Given the description of an element on the screen output the (x, y) to click on. 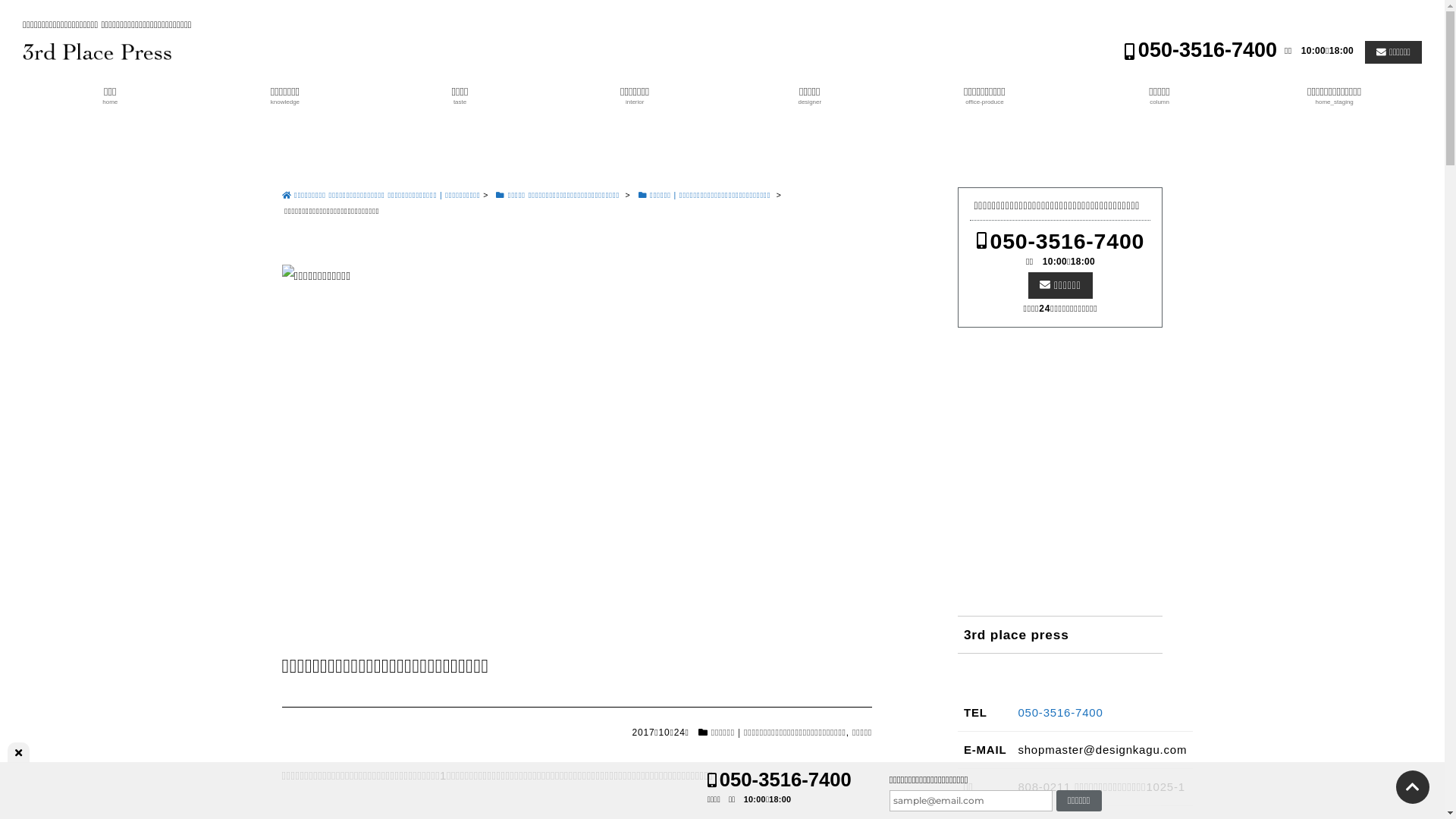
050-3516-7400 Element type: text (1059, 712)
050-3516-7400 Element type: text (1200, 50)
050-3516-7400 Element type: text (779, 780)
PAGE TOP Element type: text (1412, 786)
050-3516-7400 Element type: text (1060, 241)
